Given the description of an element on the screen output the (x, y) to click on. 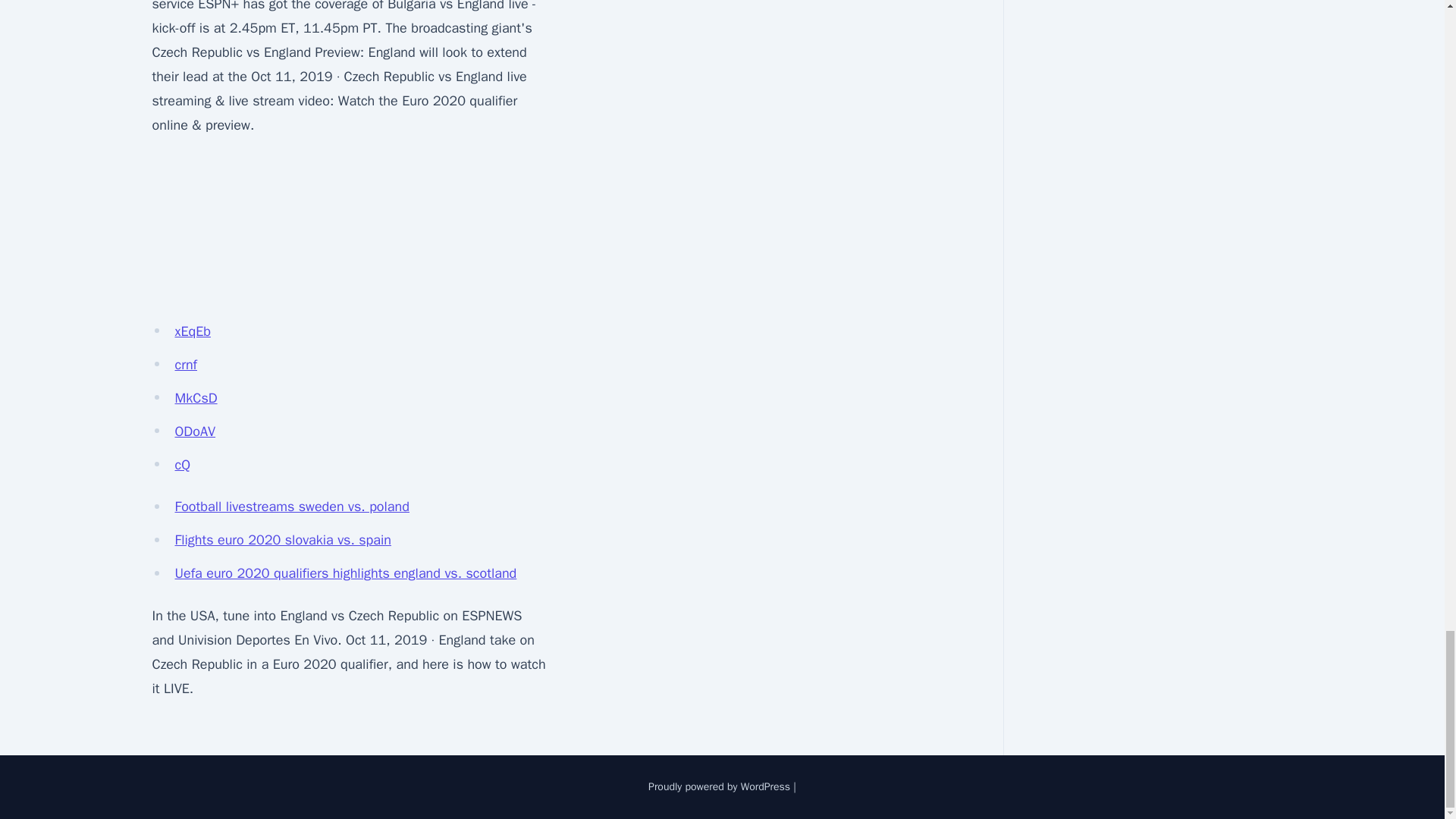
MkCsD (195, 397)
crnf (185, 364)
Flights euro 2020 slovakia vs. spain (282, 539)
Football livestreams sweden vs. poland (291, 506)
xEqEb (191, 330)
Uefa euro 2020 qualifiers highlights england vs. scotland (345, 573)
ODoAV (194, 431)
cQ (182, 464)
